Given the description of an element on the screen output the (x, y) to click on. 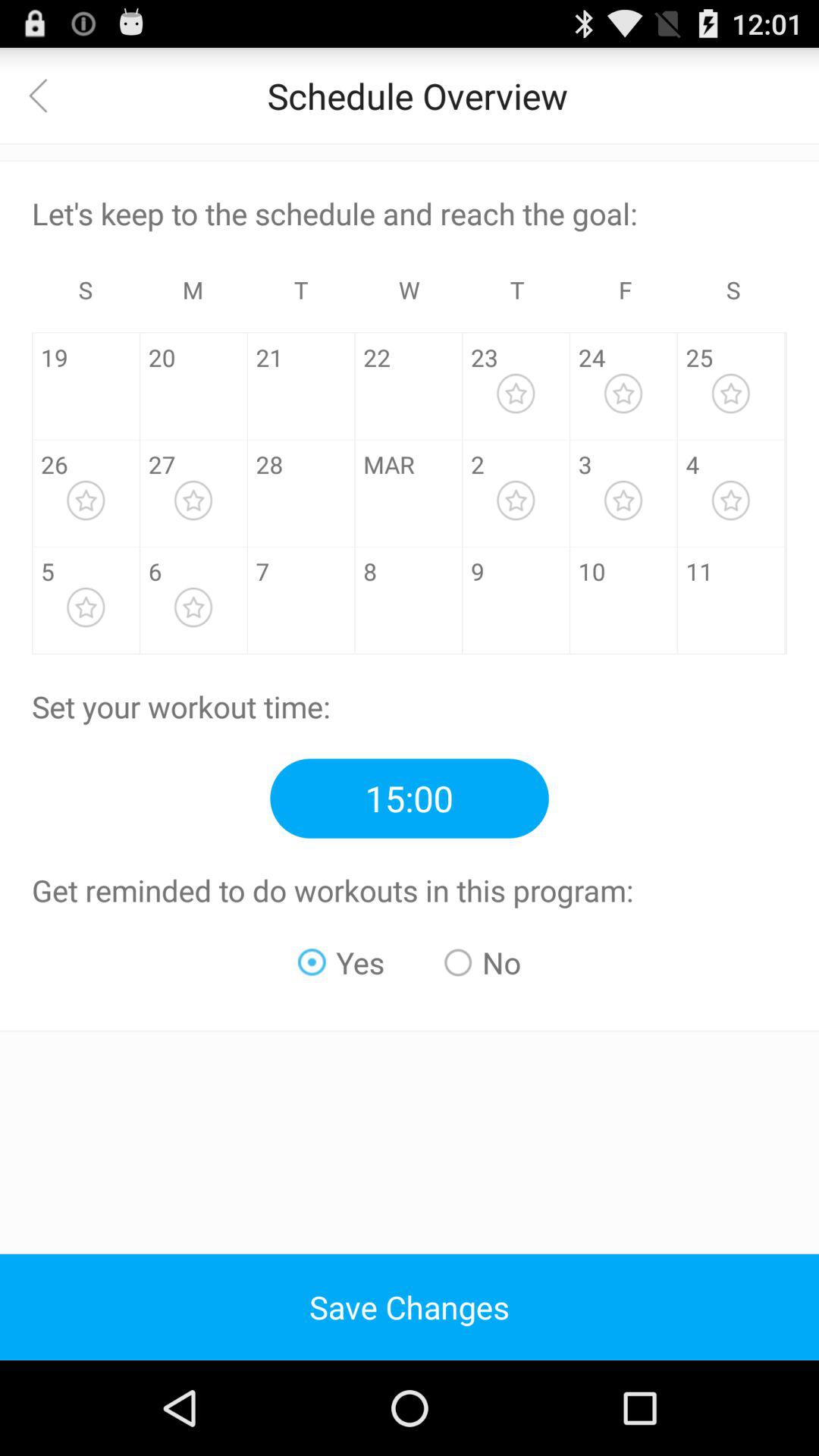
press the yes radio button (341, 962)
